Given the description of an element on the screen output the (x, y) to click on. 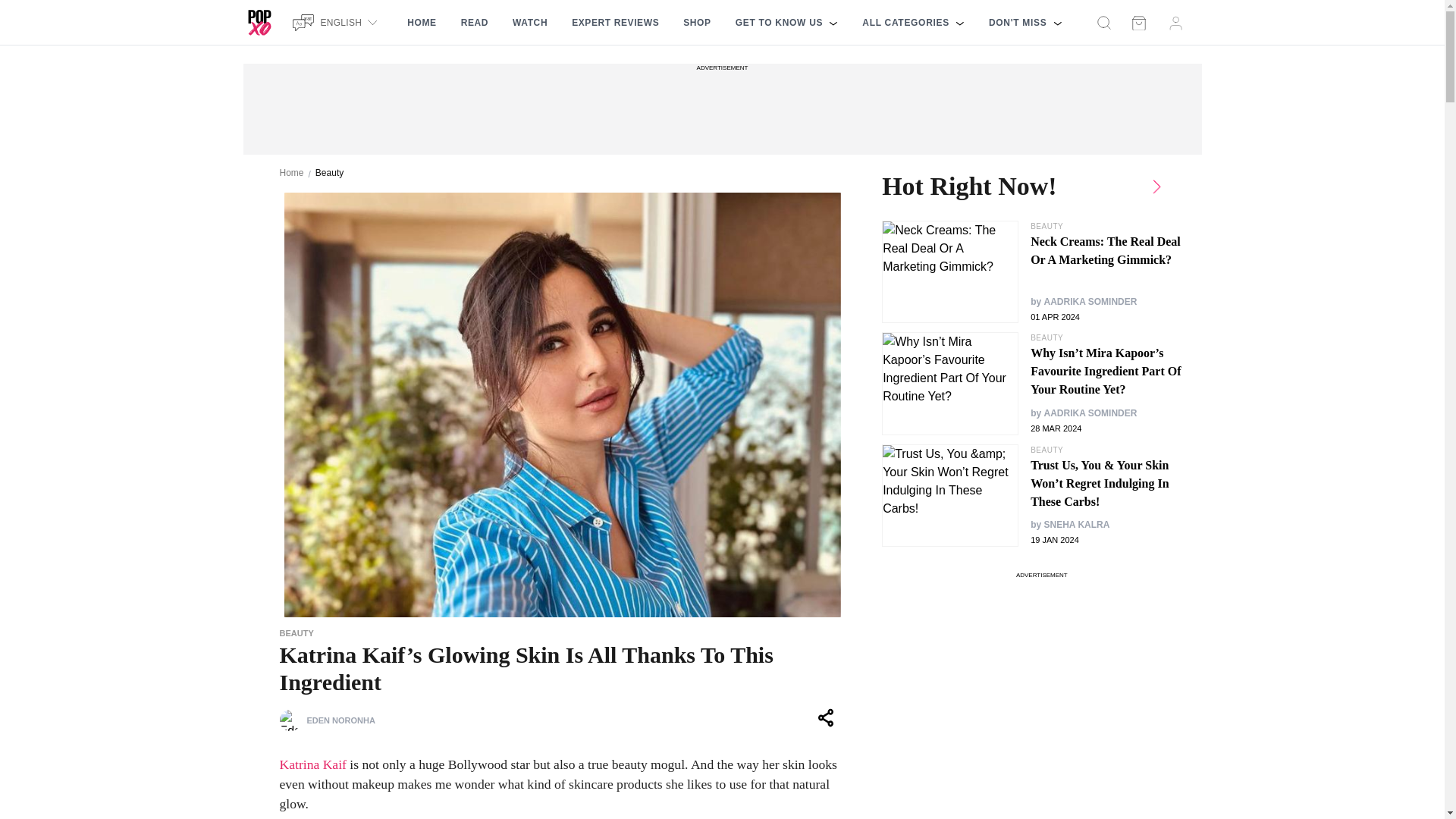
Eden Noronha (289, 720)
ENGLISH (337, 22)
HOME (421, 22)
WATCH (529, 22)
SHOP (696, 22)
READ (474, 22)
EXPERT REVIEWS (615, 22)
